Given the description of an element on the screen output the (x, y) to click on. 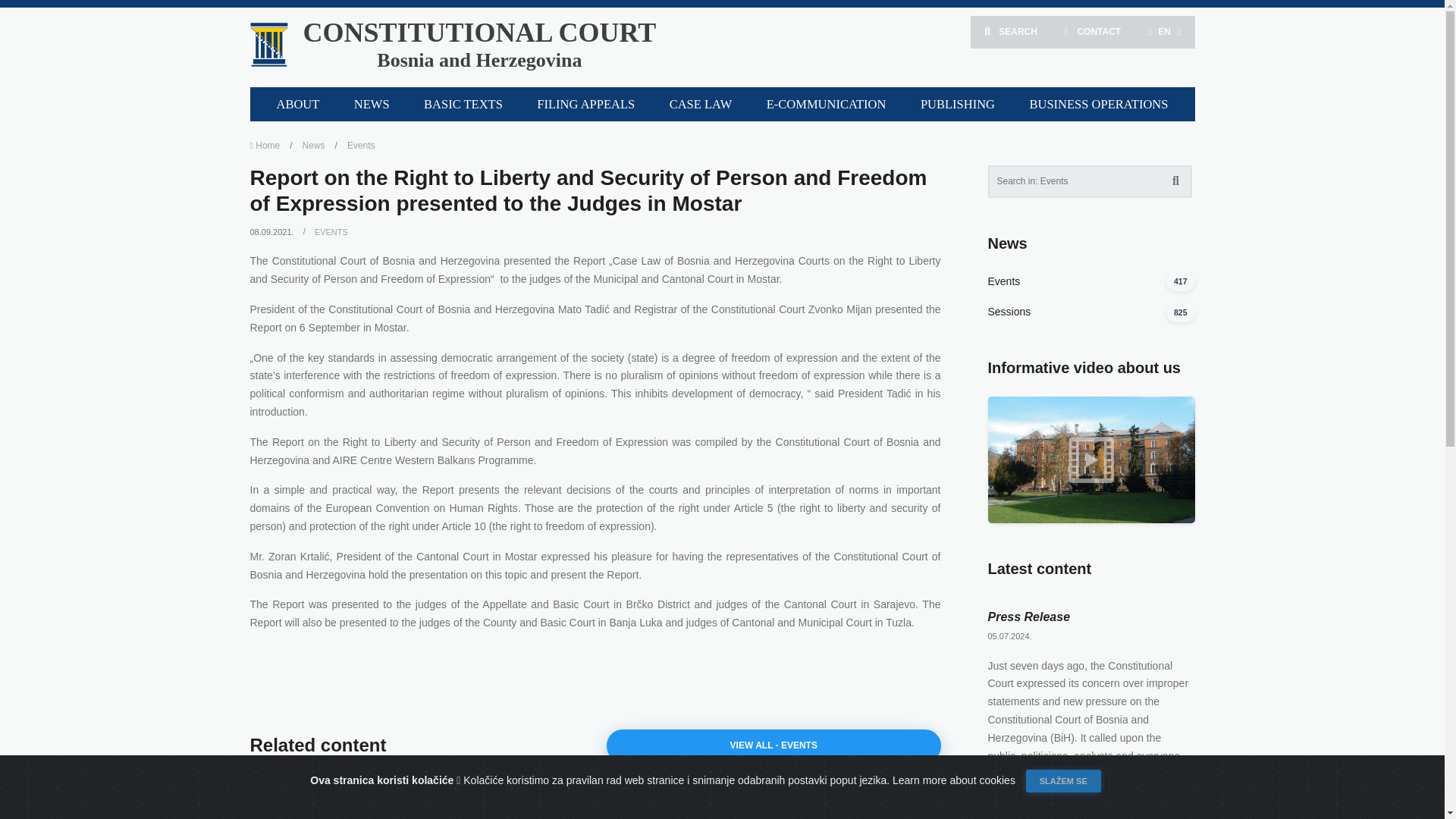
CASE LAW (700, 103)
BASIC TEXTS (463, 103)
FILING APPEALS (479, 46)
EN (585, 103)
CONTACT (1163, 31)
Learn more about cookies (1092, 31)
E-COMMUNICATION (954, 779)
SEARCH (826, 103)
ABOUT (1011, 31)
NEWS (297, 103)
